Given the description of an element on the screen output the (x, y) to click on. 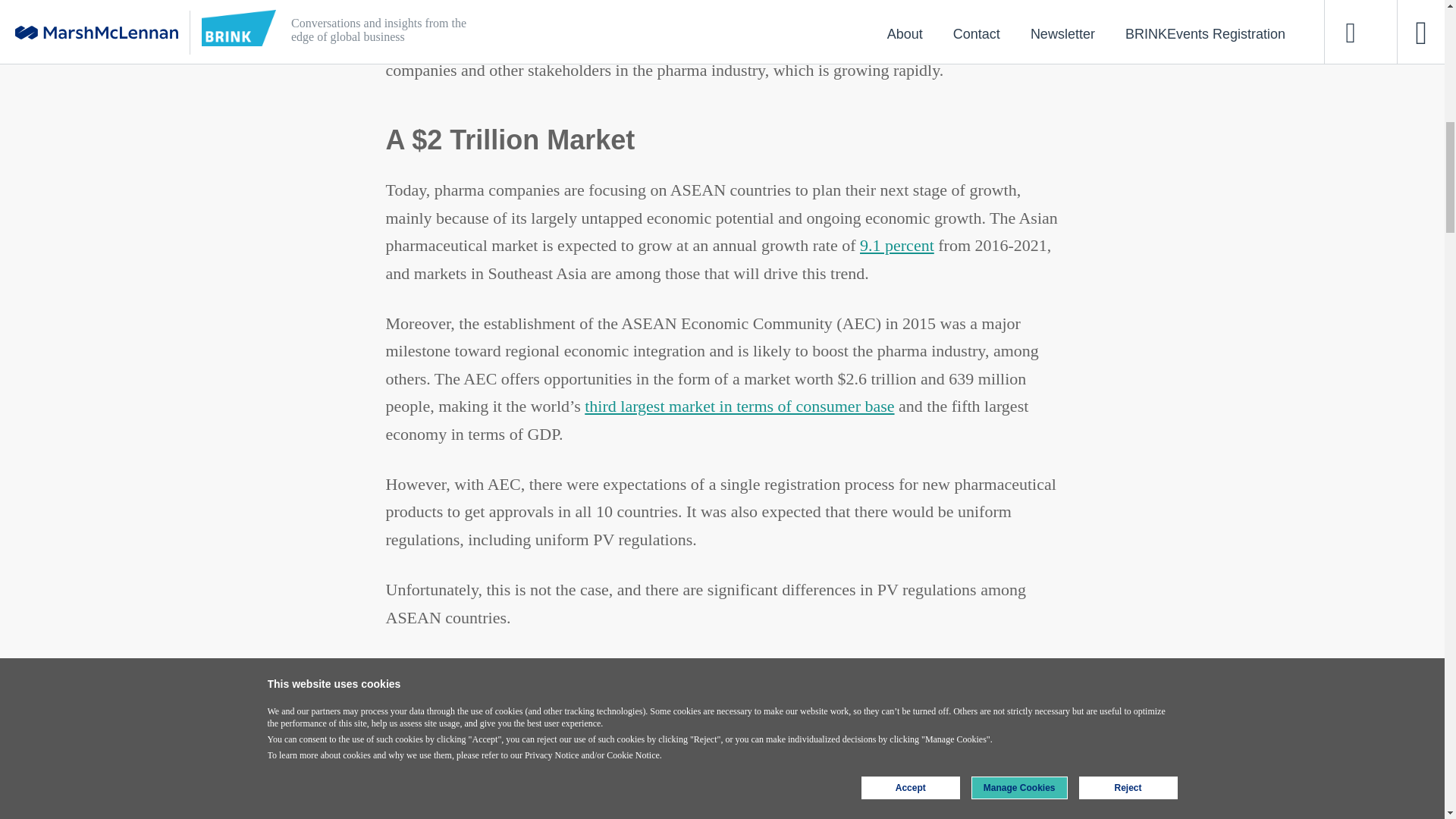
9.1 percent (897, 244)
third largest market in terms of consumer base (739, 405)
